Given the description of an element on the screen output the (x, y) to click on. 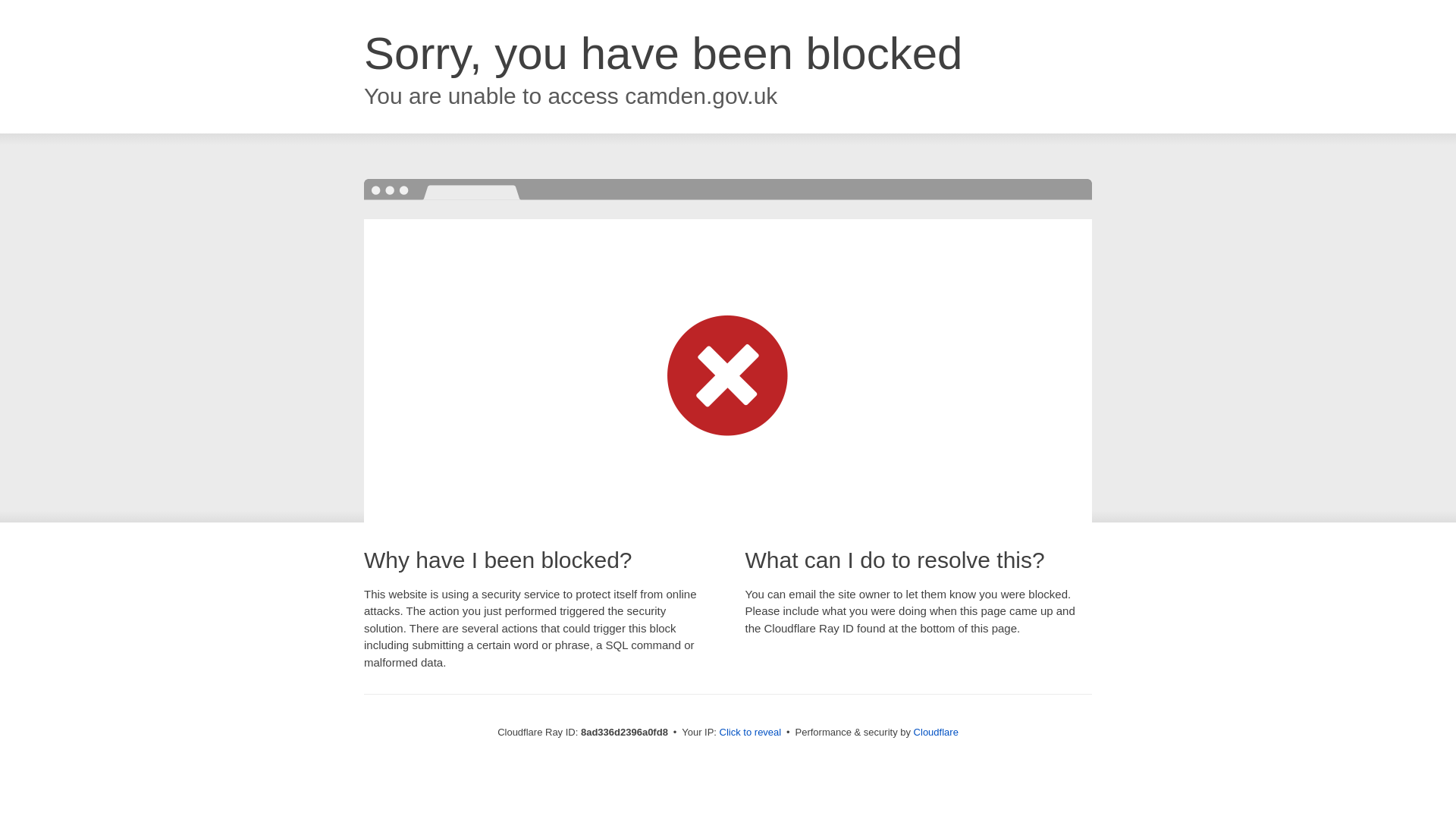
Cloudflare (936, 731)
Click to reveal (750, 732)
